Given the description of an element on the screen output the (x, y) to click on. 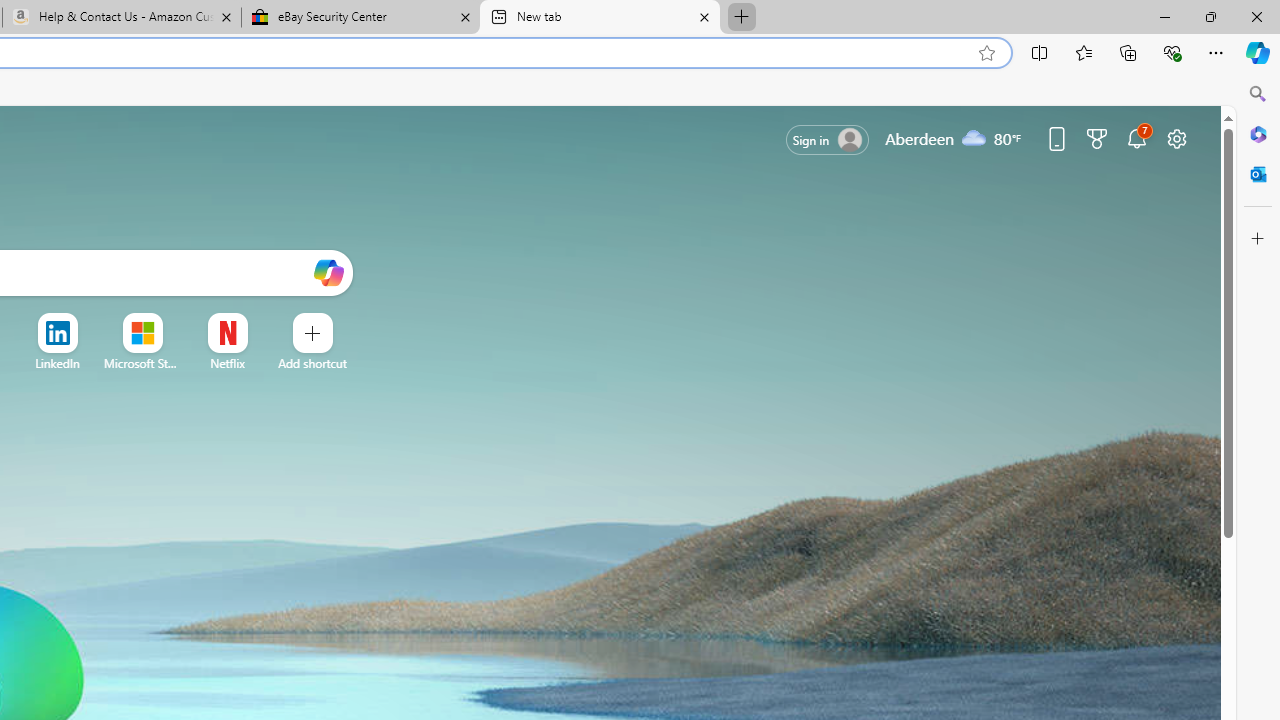
Cloudy (974, 137)
Netflix (226, 363)
Add a site (311, 363)
Click to sign into Microsoft Edge (827, 139)
